Given the description of an element on the screen output the (x, y) to click on. 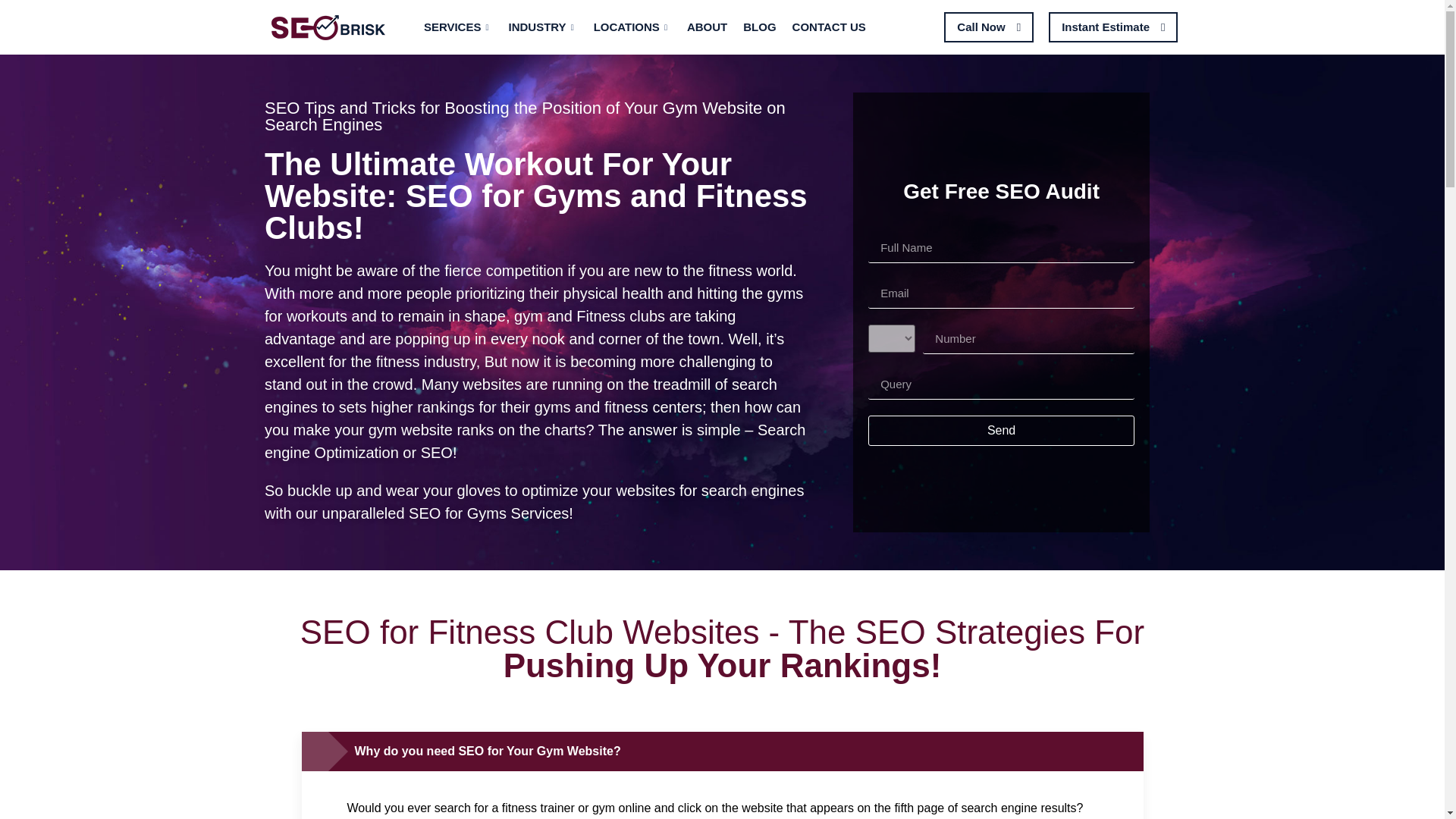
ABOUT (714, 28)
SERVICES (465, 28)
LOCATIONS (640, 28)
CONTACT US (837, 28)
INDUSTRY (550, 28)
